Given the description of an element on the screen output the (x, y) to click on. 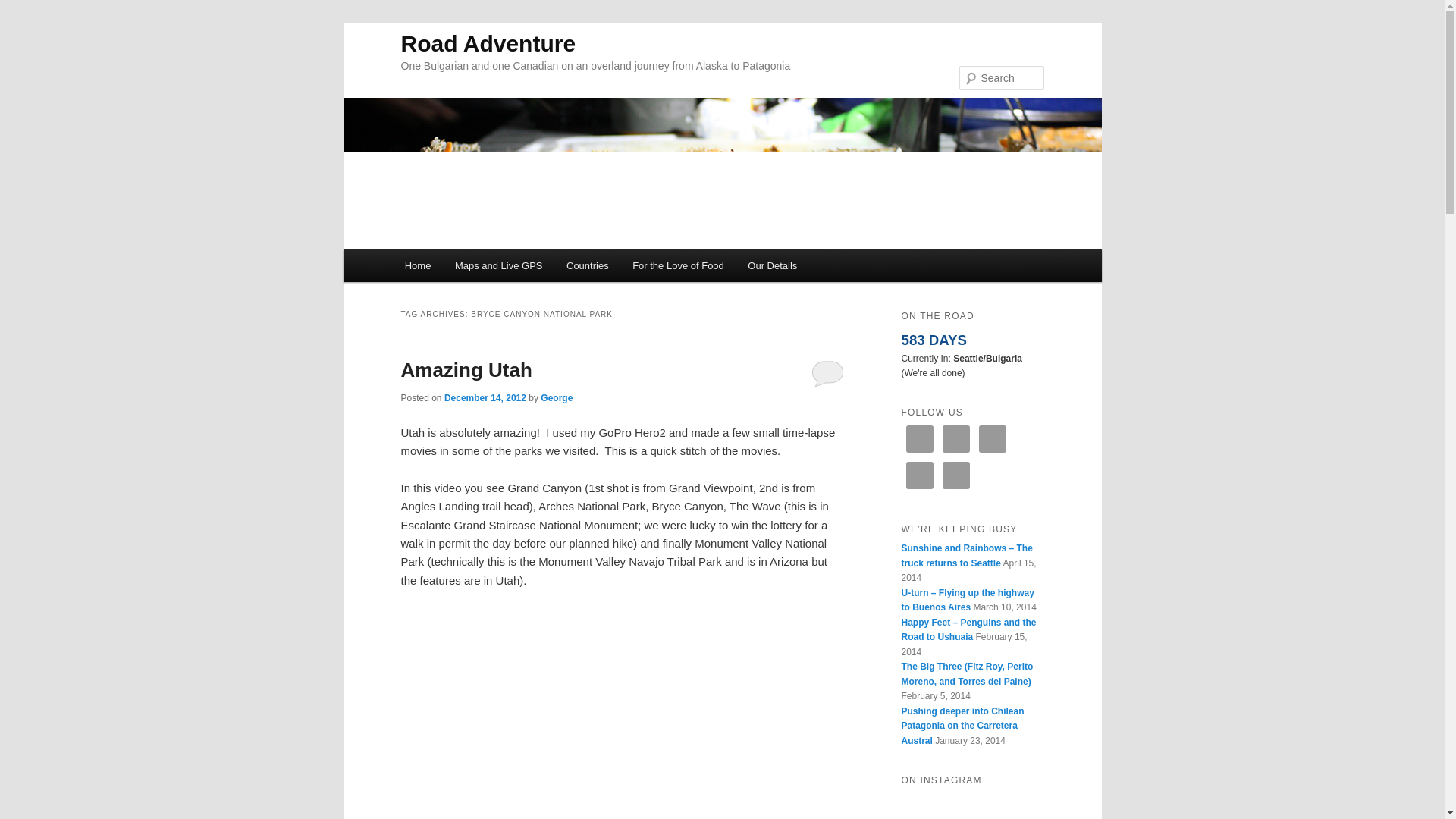
Countries (587, 265)
5:40 pm (484, 398)
December 14, 2012 (484, 398)
Amazing Utah (465, 369)
Road Adventure (487, 43)
YouTube player (621, 723)
Home (417, 265)
George (556, 398)
Skip to secondary content (479, 268)
Skip to secondary content (479, 268)
